Given the description of an element on the screen output the (x, y) to click on. 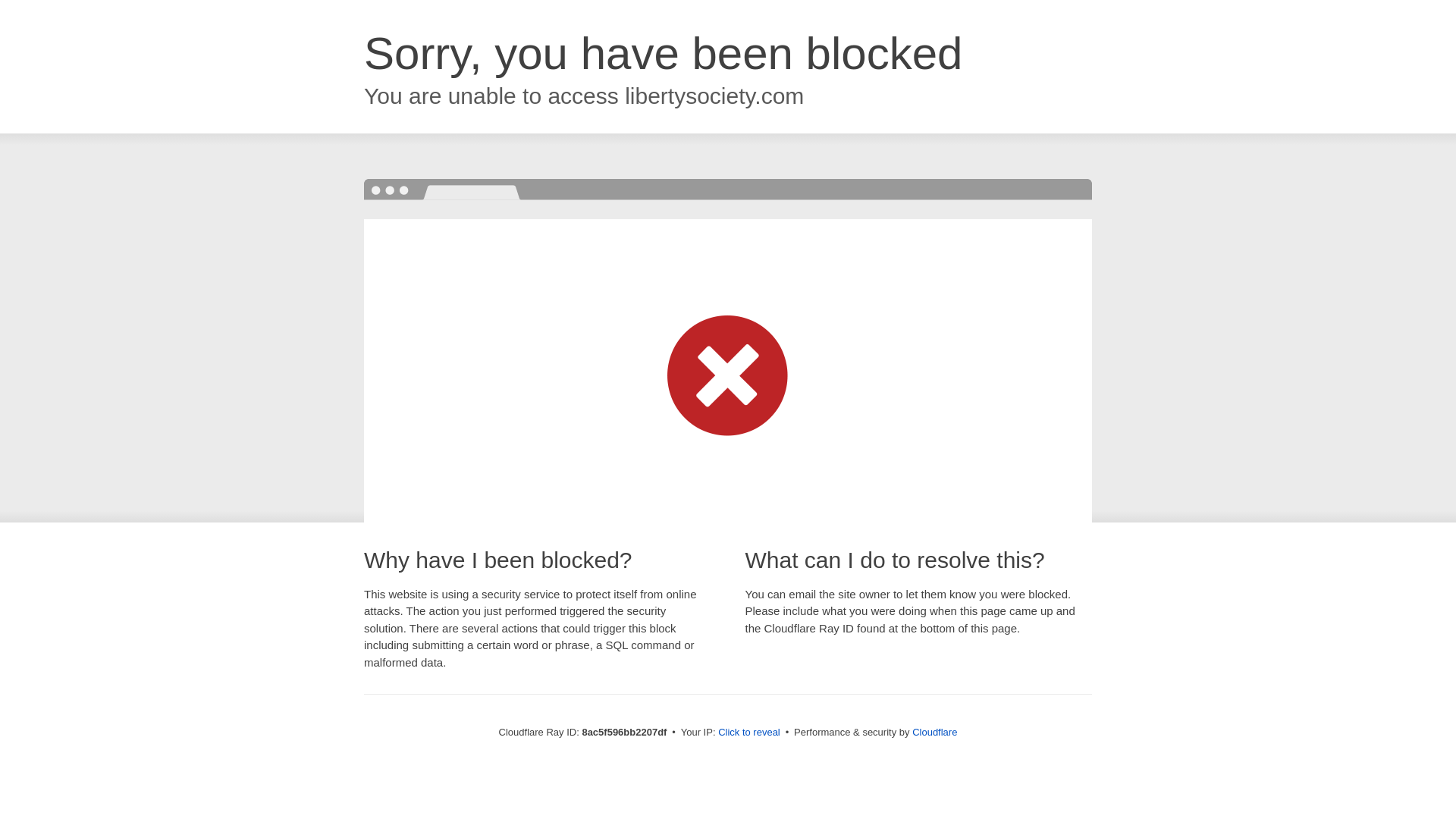
Cloudflare (936, 731)
Click to reveal (751, 732)
